Given the description of an element on the screen output the (x, y) to click on. 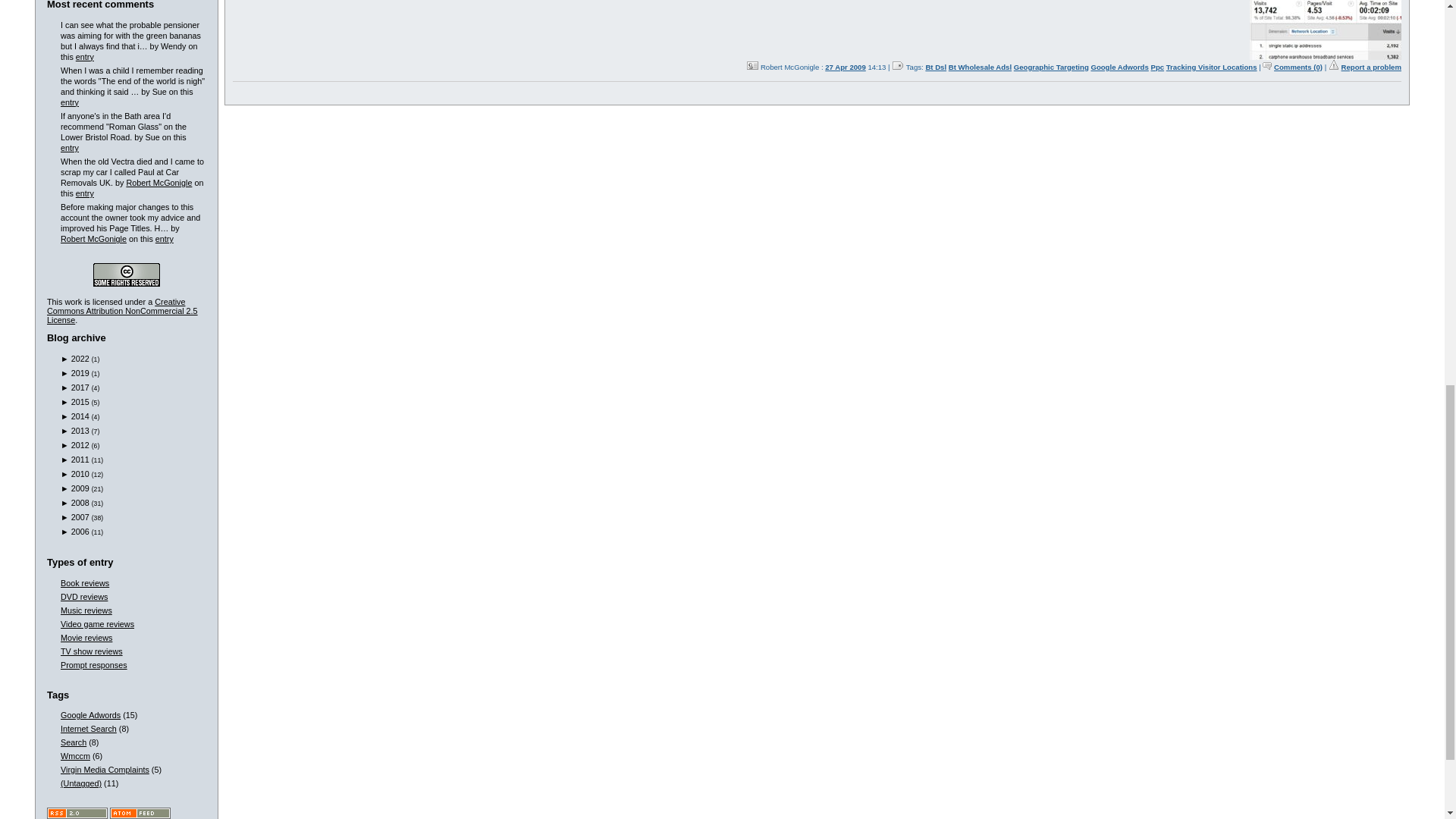
Bt Dsl (935, 67)
Geographic Targeting (1051, 67)
Report a problem (1370, 67)
Tracking Visitor Locations (1211, 67)
Bt Wholesale Adsl (980, 67)
Ppc (1157, 67)
Google Adwords (1119, 67)
27 Apr 2009 (845, 67)
